Given the description of an element on the screen output the (x, y) to click on. 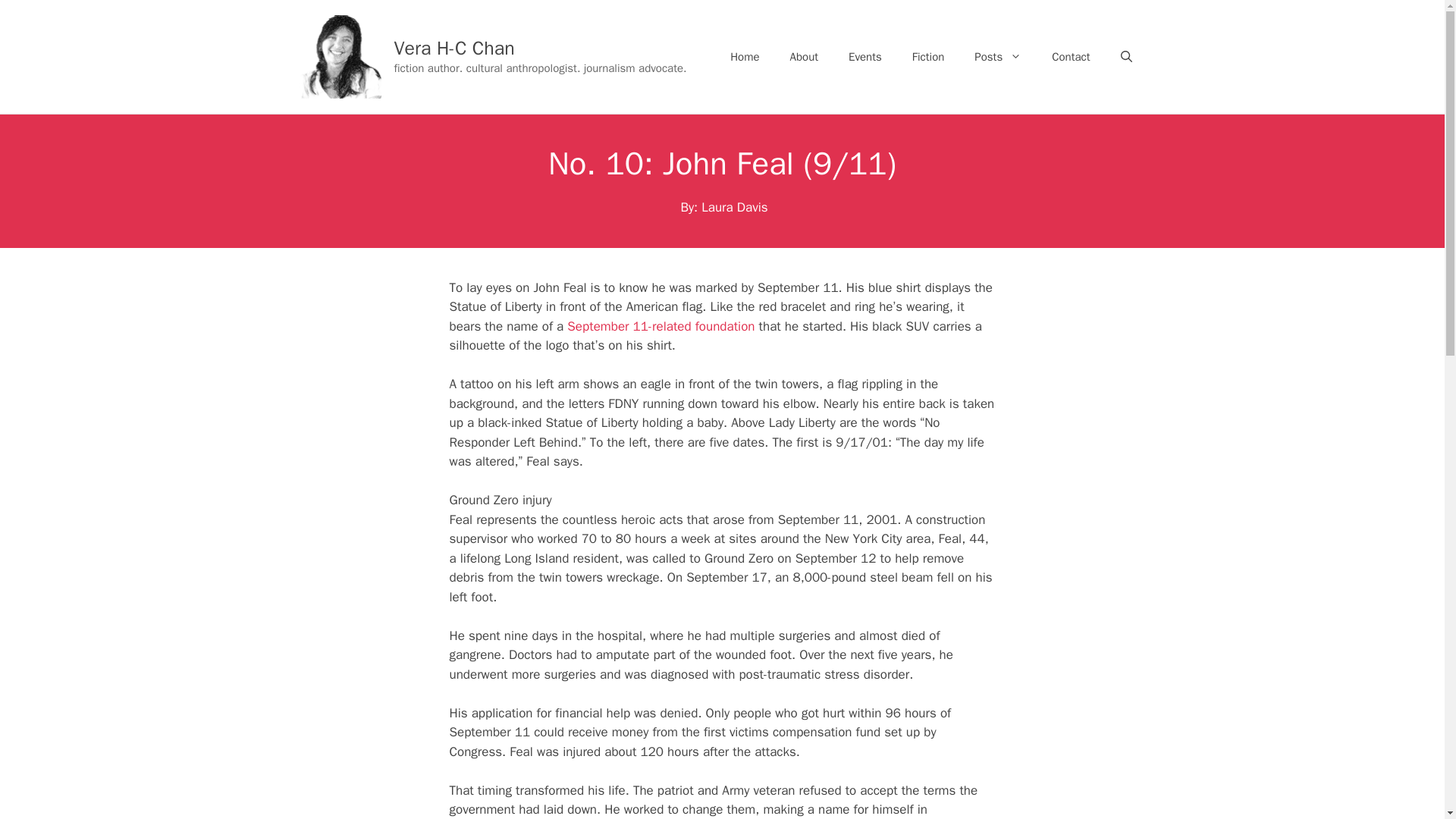
Vera H-C Chan (454, 47)
Posts (997, 56)
About (803, 56)
Fiction (927, 56)
Home (744, 56)
Contact (1070, 56)
Events (864, 56)
